Given the description of an element on the screen output the (x, y) to click on. 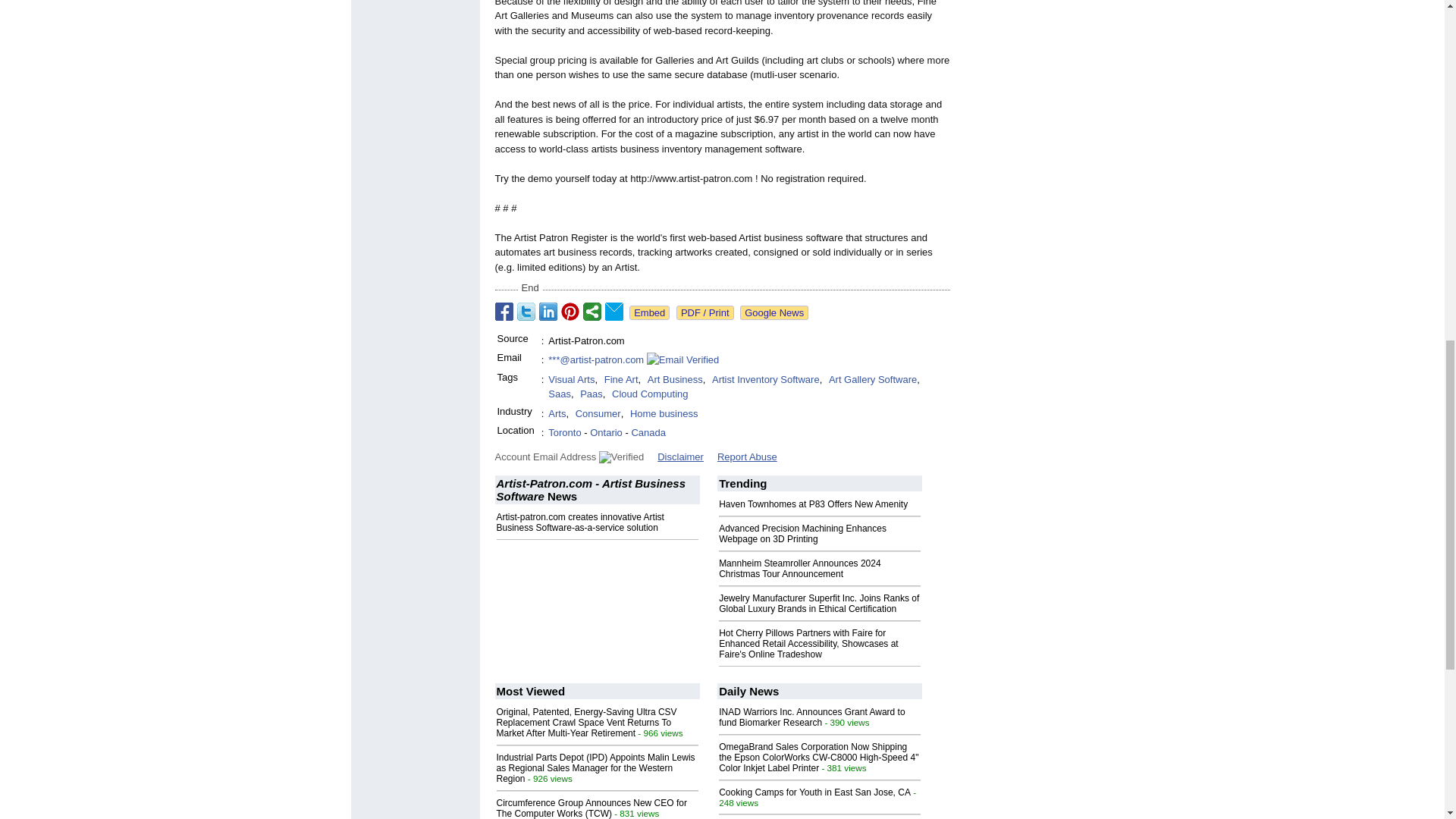
Share on Facebook (503, 311)
Embed this press release in your website! (648, 312)
See or print the PDF version! (705, 312)
Embed (648, 312)
Share on LinkedIn (547, 311)
Share on Pinterest (569, 311)
Share on StumbleUpon, Digg, etc (590, 311)
Email to a Friend (614, 311)
Email Verified (682, 359)
Verified (620, 457)
Share on Twitter (525, 311)
